Given the description of an element on the screen output the (x, y) to click on. 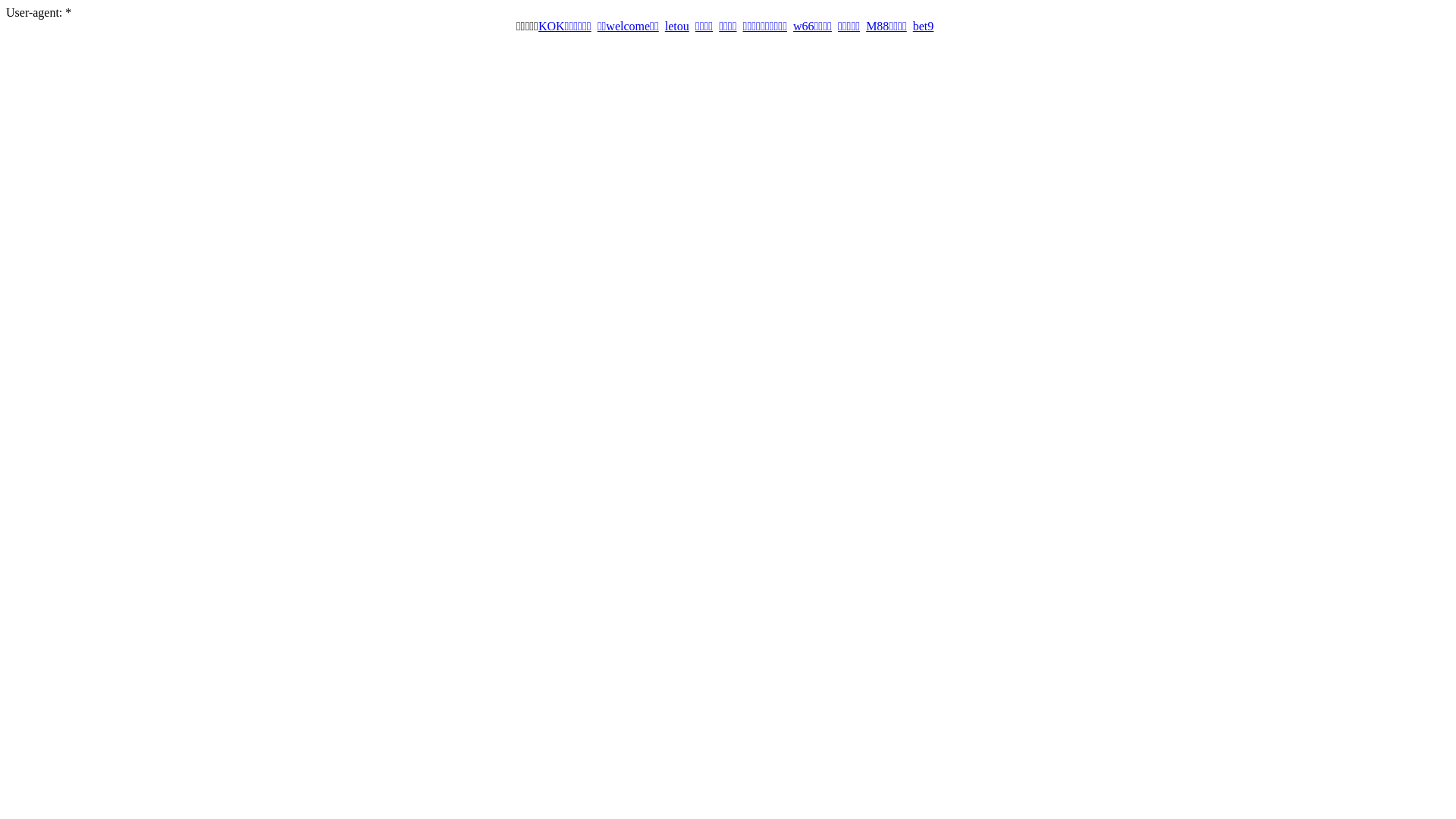
bet9 Element type: text (923, 25)
letou Element type: text (677, 25)
